Given the description of an element on the screen output the (x, y) to click on. 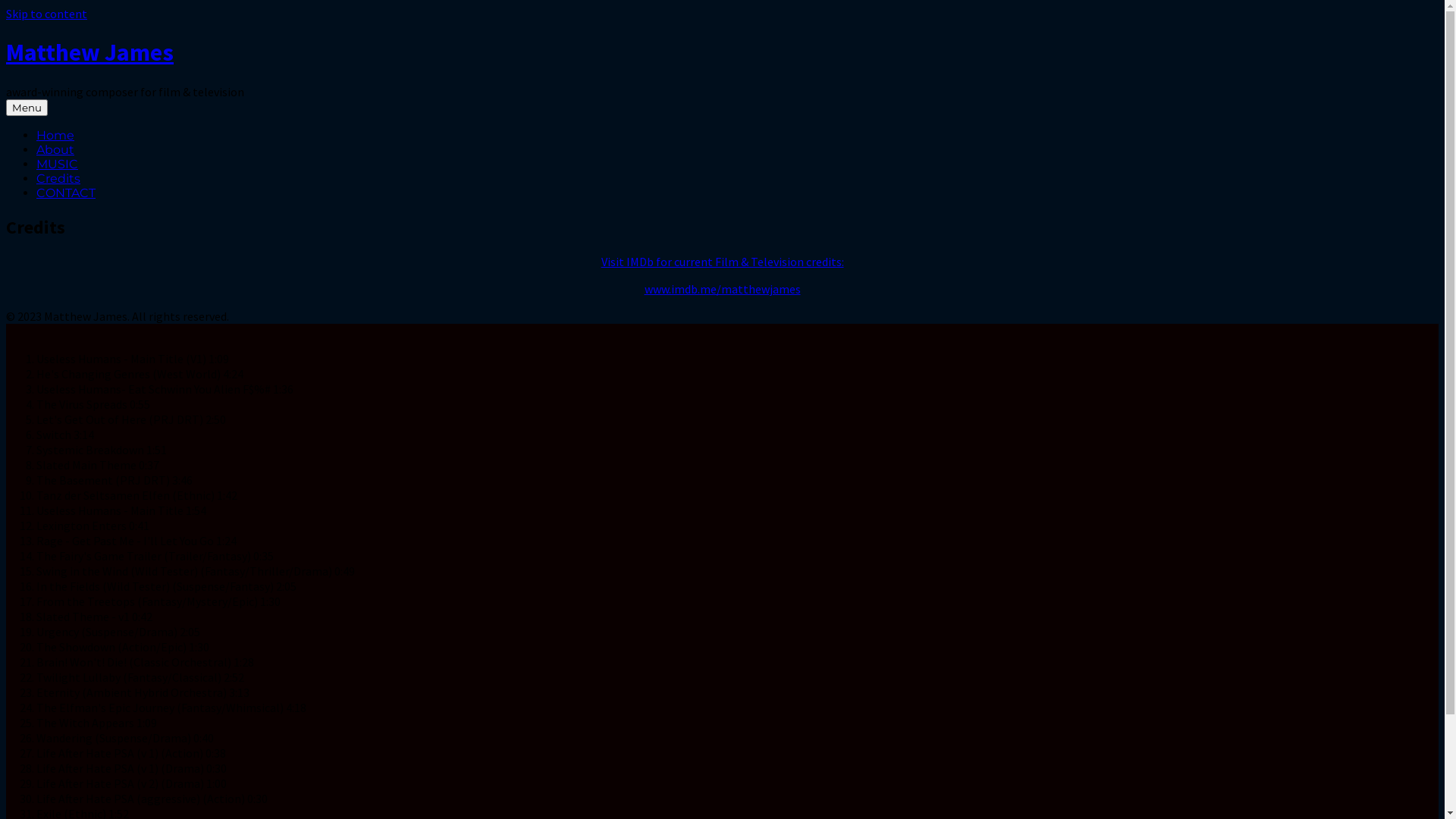
MUSIC Element type: text (57, 163)
CONTACT Element type: text (65, 192)
Menu Element type: text (26, 107)
Skip to content Element type: text (46, 13)
www.imdb.me/matthewjames Element type: text (722, 288)
Credits Element type: text (58, 178)
Home Element type: text (55, 135)
About Element type: text (55, 149)
Matthew James Element type: text (89, 52)
Visit IMDb for current Film & Television credits: Element type: text (721, 261)
